Given the description of an element on the screen output the (x, y) to click on. 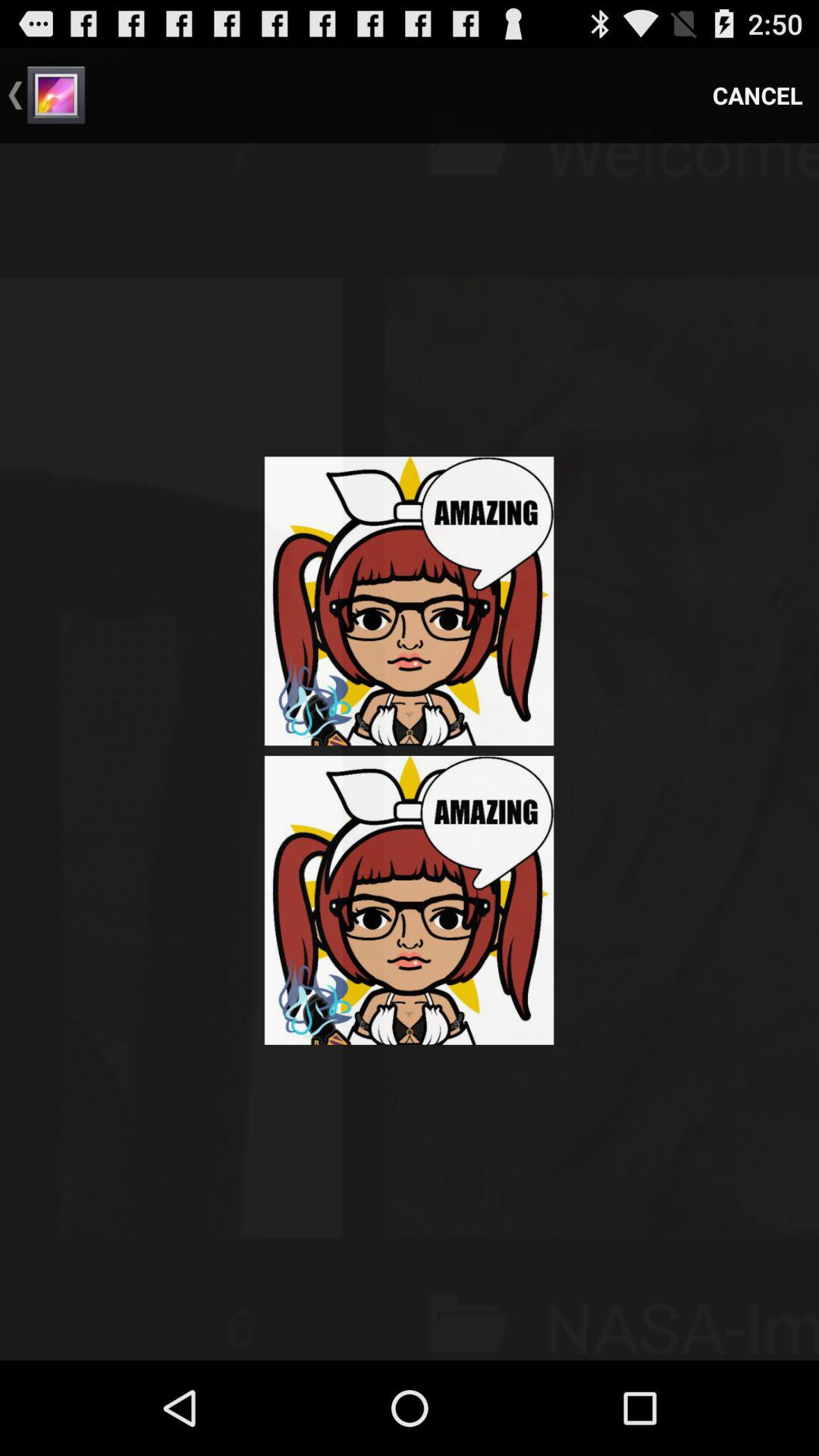
open the icon at the top right corner (757, 95)
